Given the description of an element on the screen output the (x, y) to click on. 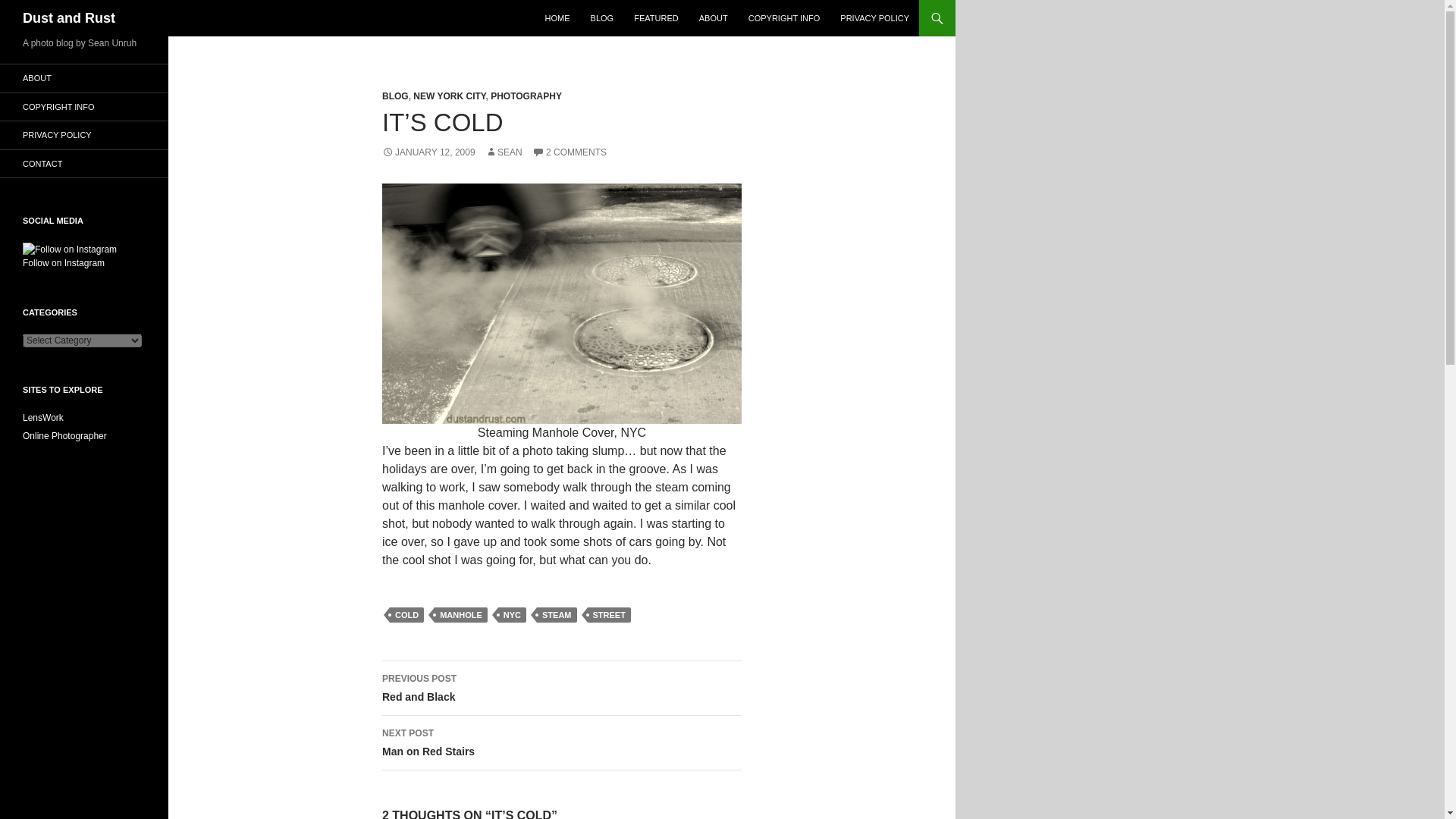
COLD (406, 614)
COPYRIGHT INFO (784, 18)
BLOG (601, 18)
COPYRIGHT INFO (84, 106)
SEAN (503, 152)
PHOTOGRAPHY (526, 95)
Great Publication (43, 417)
CONTACT (84, 163)
MANHOLE (460, 614)
Follow on Instagram (69, 255)
HOME (557, 18)
JANUARY 12, 2009 (428, 152)
PRIVACY POLICY (84, 135)
2 COMMENTS (569, 152)
